Given the description of an element on the screen output the (x, y) to click on. 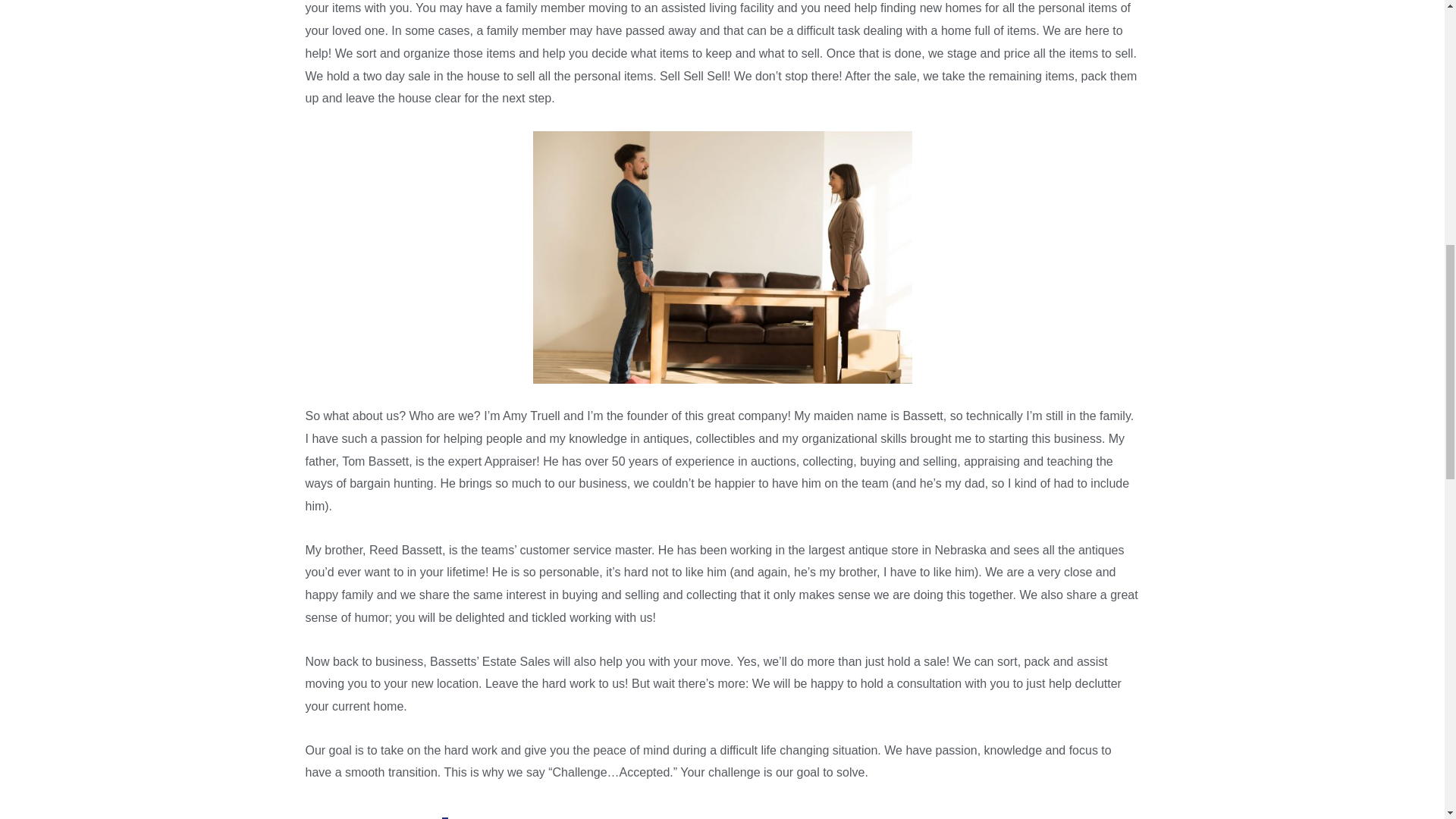
Introducing Bassetts' Estate Sales "Challenge...Accepted" 1 (721, 257)
Introducing Bassetts' Estate Sales "Challenge...Accepted" 2 (721, 812)
